Given the description of an element on the screen output the (x, y) to click on. 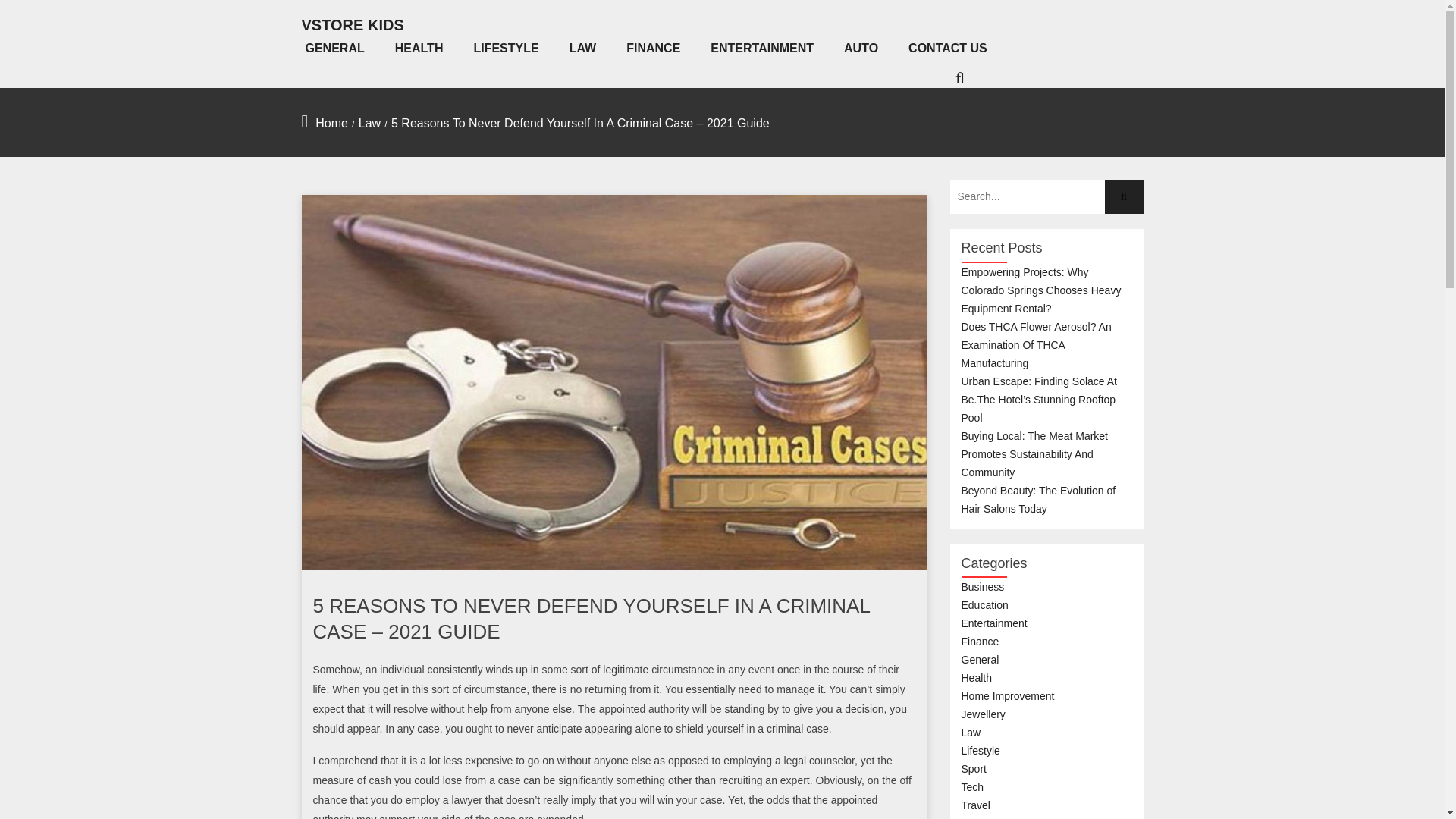
CONTACT US (947, 48)
Law (369, 123)
FINANCE (652, 48)
LAW (582, 48)
AUTO (860, 48)
Jewellery (983, 714)
Home (331, 123)
Entertainment (993, 623)
HEALTH (419, 48)
Beyond Beauty: The Evolution of Hair Salons Today (1038, 499)
Business (982, 586)
ENTERTAINMENT (761, 48)
